Given the description of an element on the screen output the (x, y) to click on. 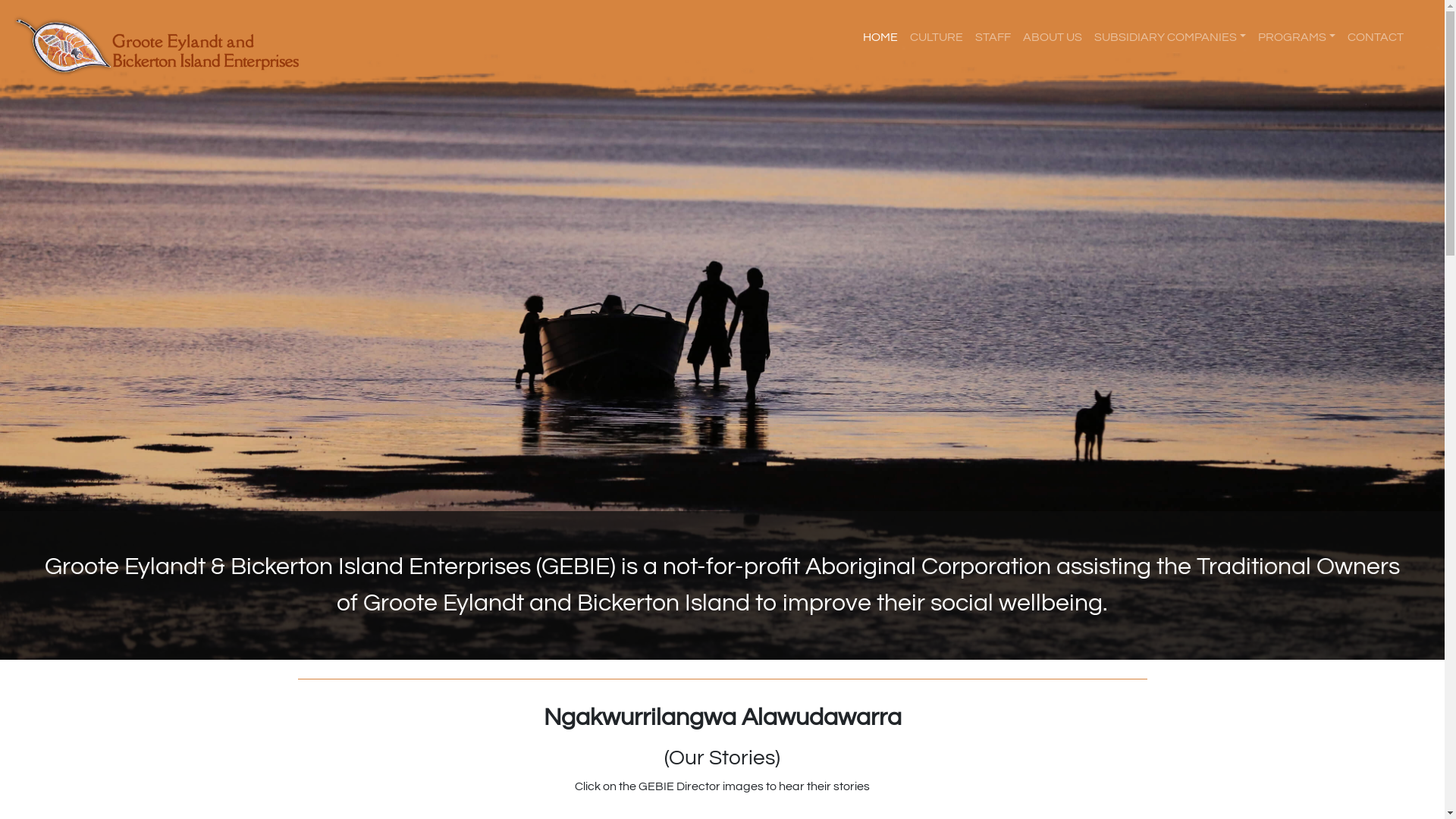
HOME Element type: text (879, 36)
STAFF Element type: text (992, 36)
ABOUT US Element type: text (1052, 36)
CONTACT Element type: text (1375, 36)
SUBSIDIARY COMPANIES Element type: text (1170, 36)
CULTURE Element type: text (936, 36)
PROGRAMS Element type: text (1296, 36)
